Given the description of an element on the screen output the (x, y) to click on. 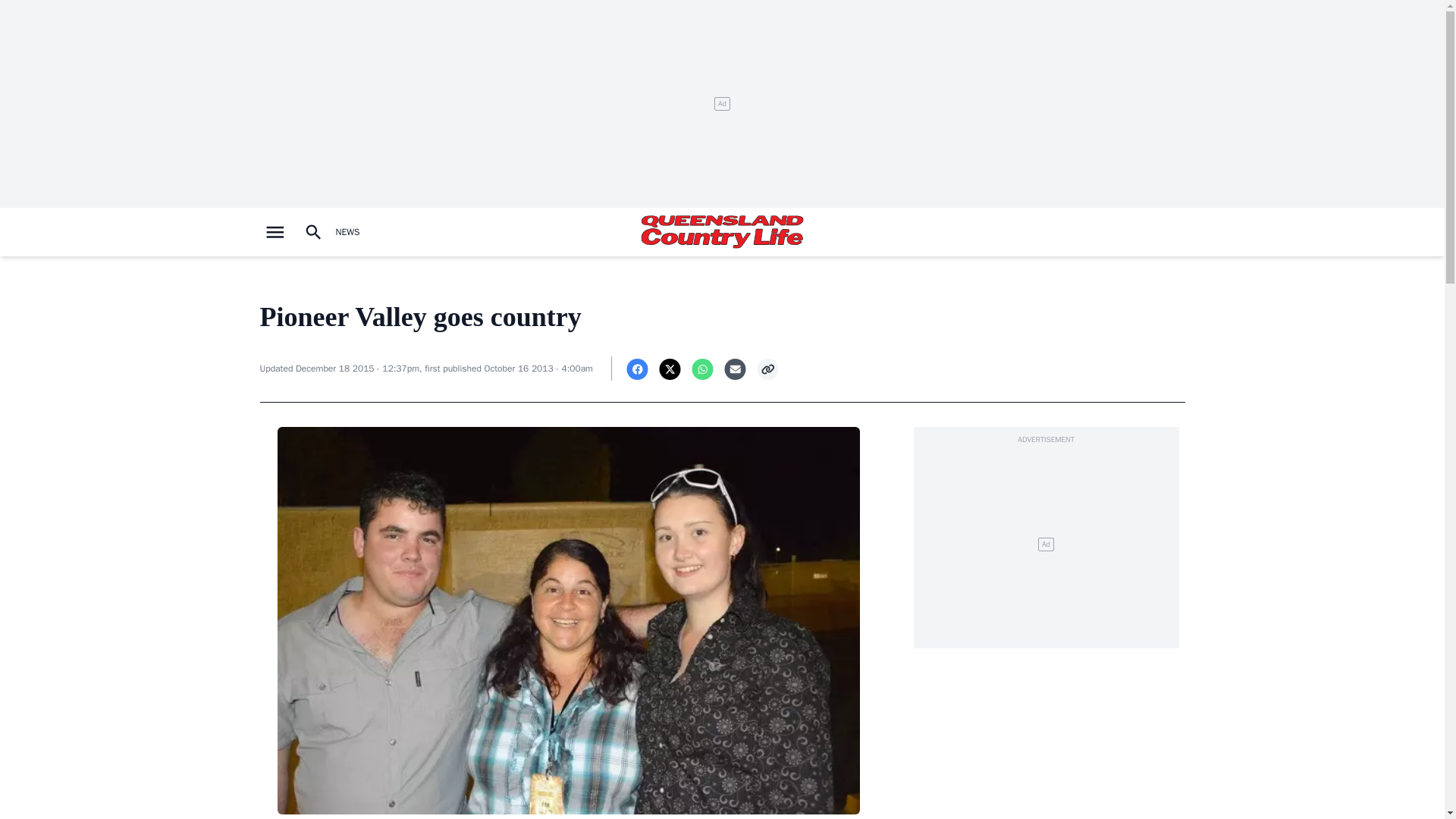
NEWS (347, 232)
